Given the description of an element on the screen output the (x, y) to click on. 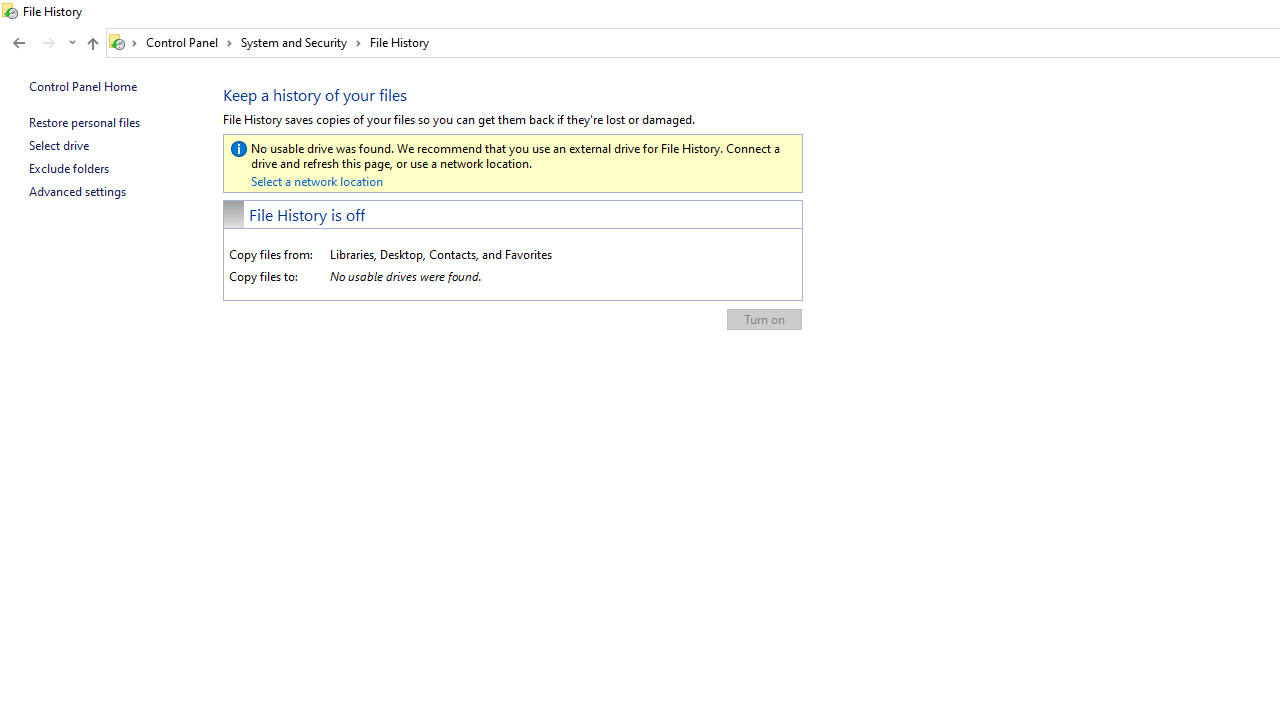
Recent locations (71, 43)
System (10, 11)
Forward (Alt + Right Arrow) (49, 43)
System and Security (301, 42)
